Given the description of an element on the screen output the (x, y) to click on. 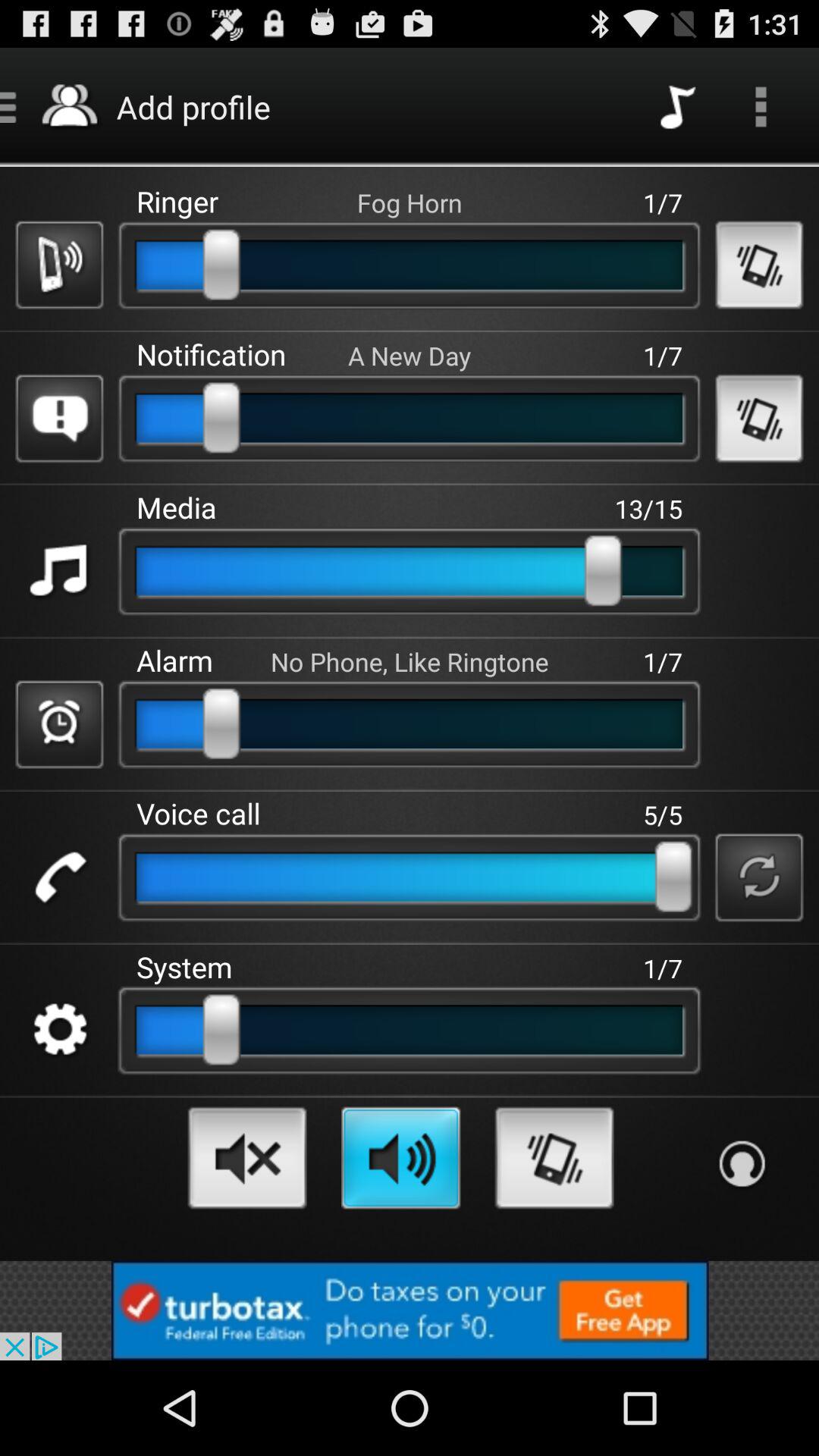
voice call volume option (59, 877)
